Given the description of an element on the screen output the (x, y) to click on. 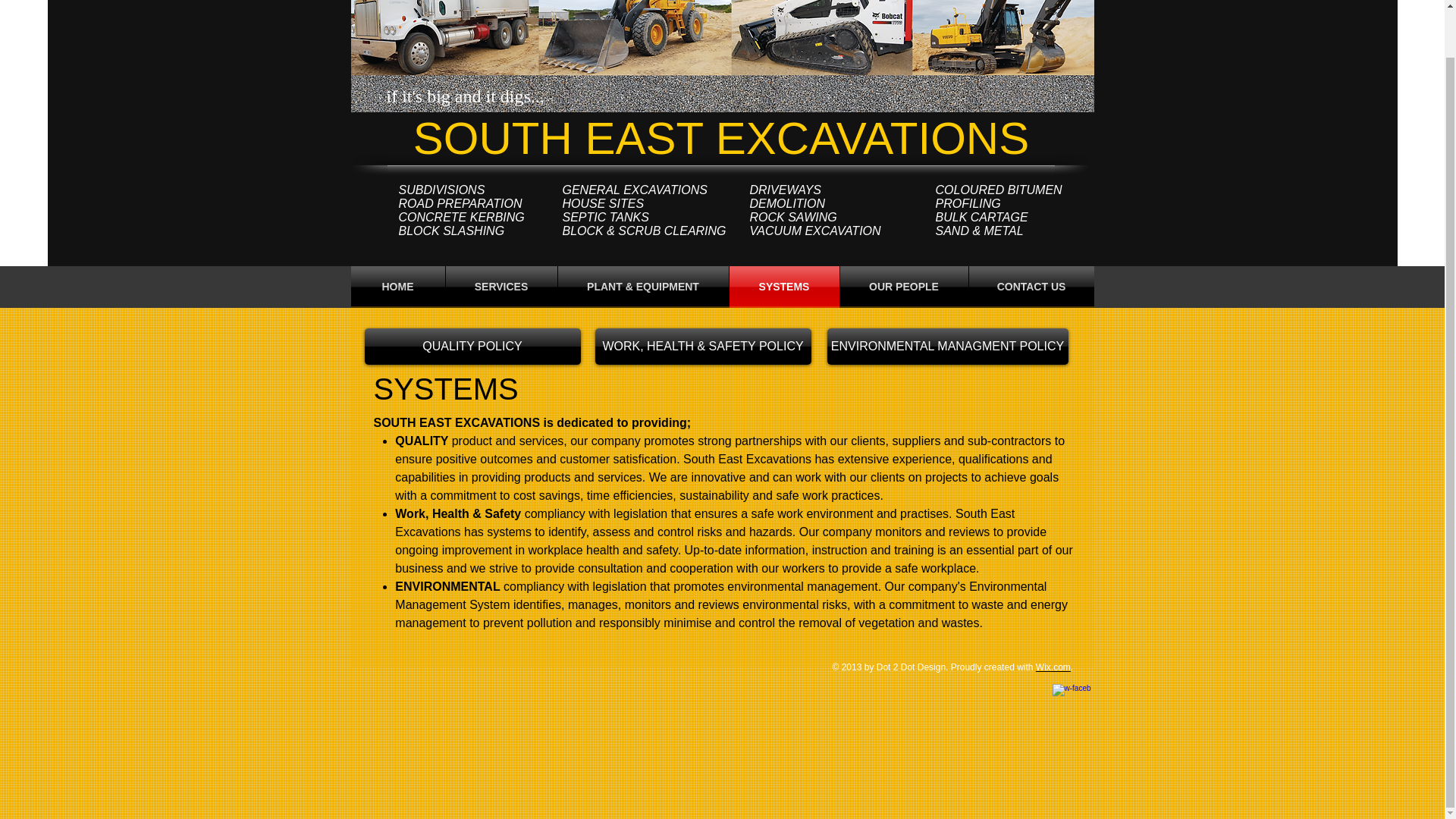
ENVIRONMENTAL MANAGMENT POLICY (947, 346)
SYSTEMS (784, 286)
OUR PEOPLE (904, 286)
ROAD PREPARATION (460, 203)
QUALITY POLICY (471, 346)
CONTACT US (1031, 286)
SUBDIVISIONS (441, 189)
HOME (397, 286)
SERVICES (501, 286)
